Given the description of an element on the screen output the (x, y) to click on. 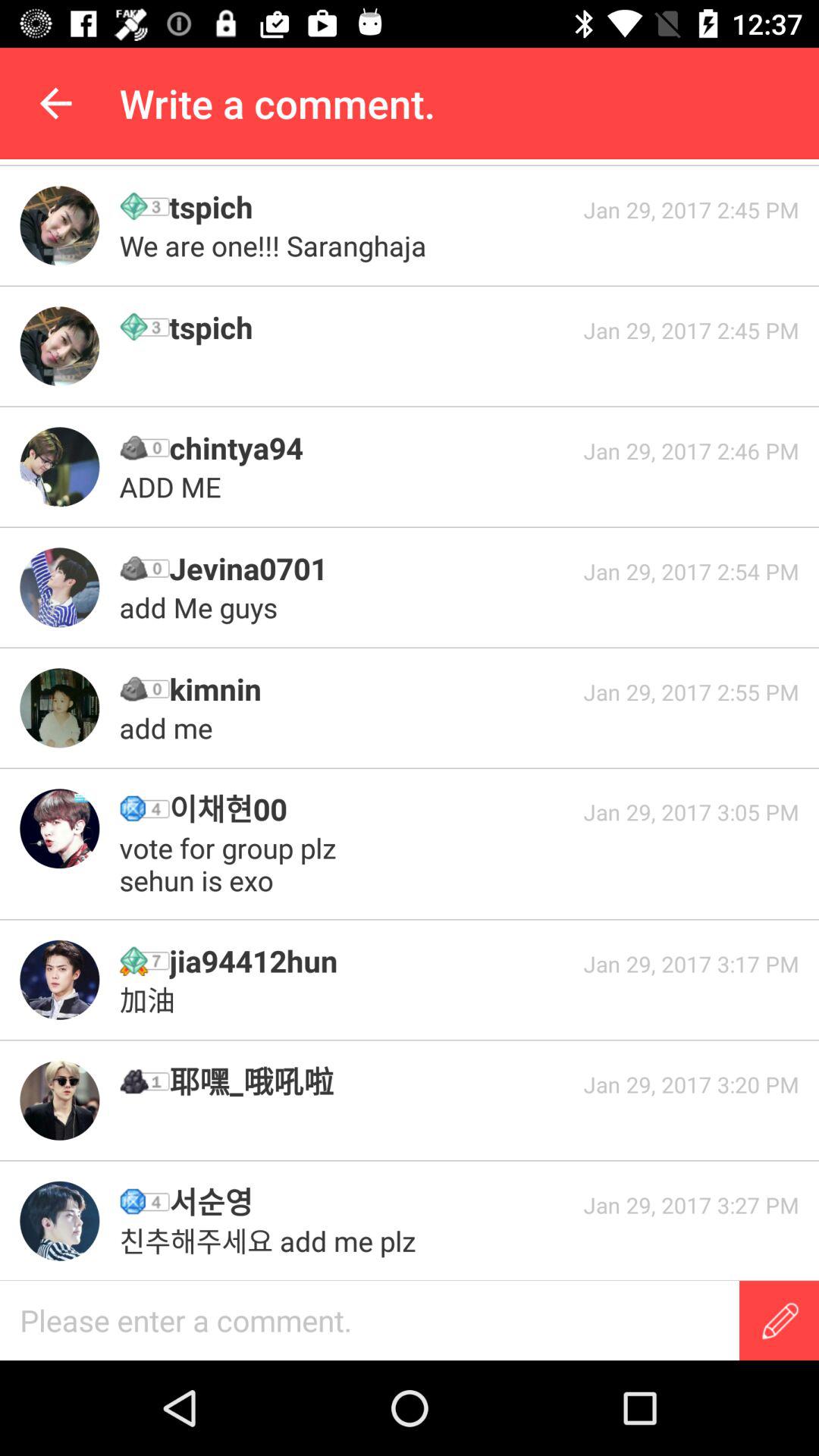
view profile picture (59, 346)
